Given the description of an element on the screen output the (x, y) to click on. 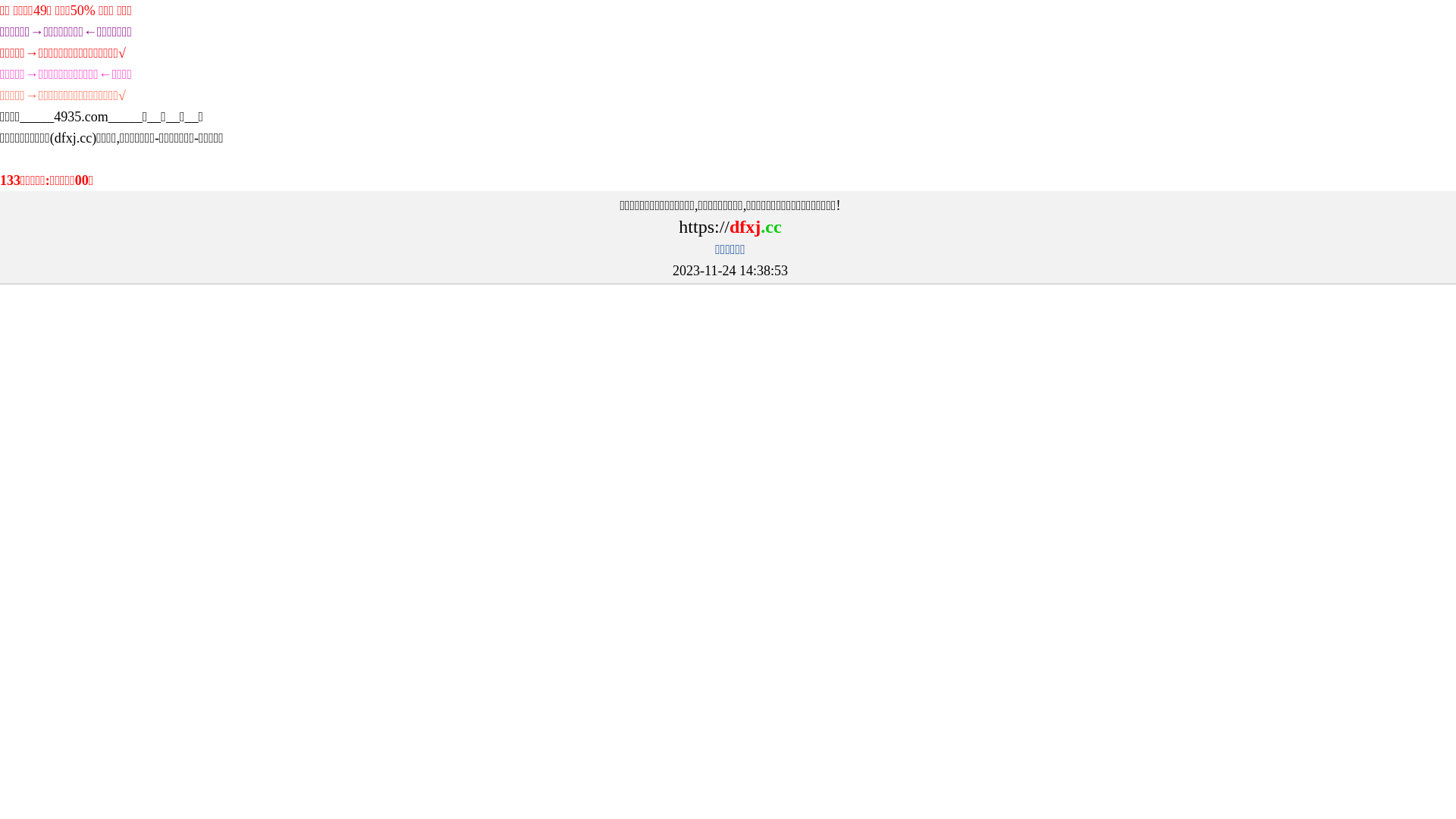
https://dfxj.cc Element type: text (729, 227)
